Given the description of an element on the screen output the (x, y) to click on. 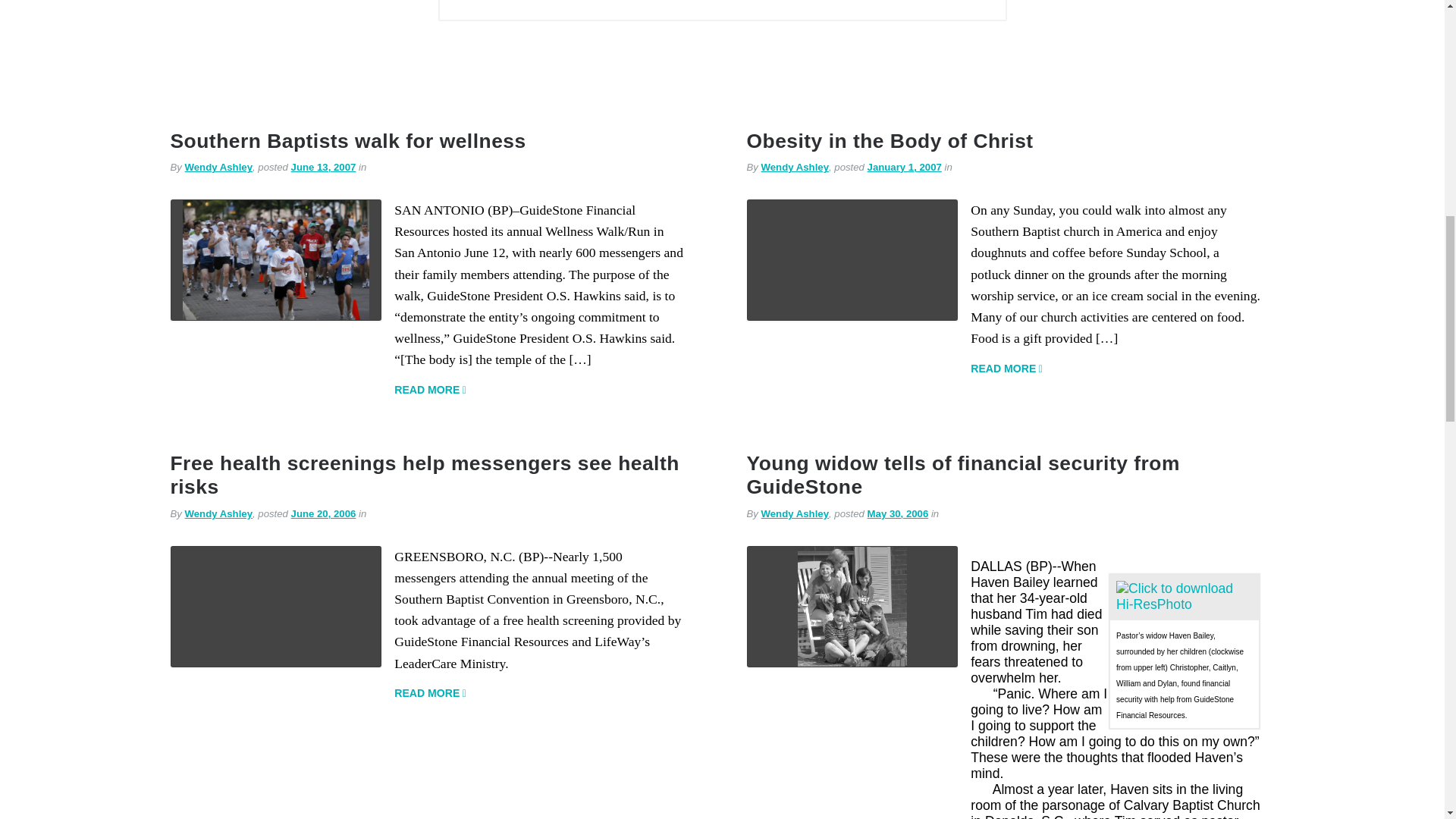
READ MORE (429, 390)
Wendy Ashley (794, 166)
June 13, 2007 (323, 166)
Obesity in the Body of Christ (888, 140)
January 1, 2007 (904, 166)
Southern Baptists walk for wellness (347, 140)
Wendy Ashley (217, 166)
